Given the description of an element on the screen output the (x, y) to click on. 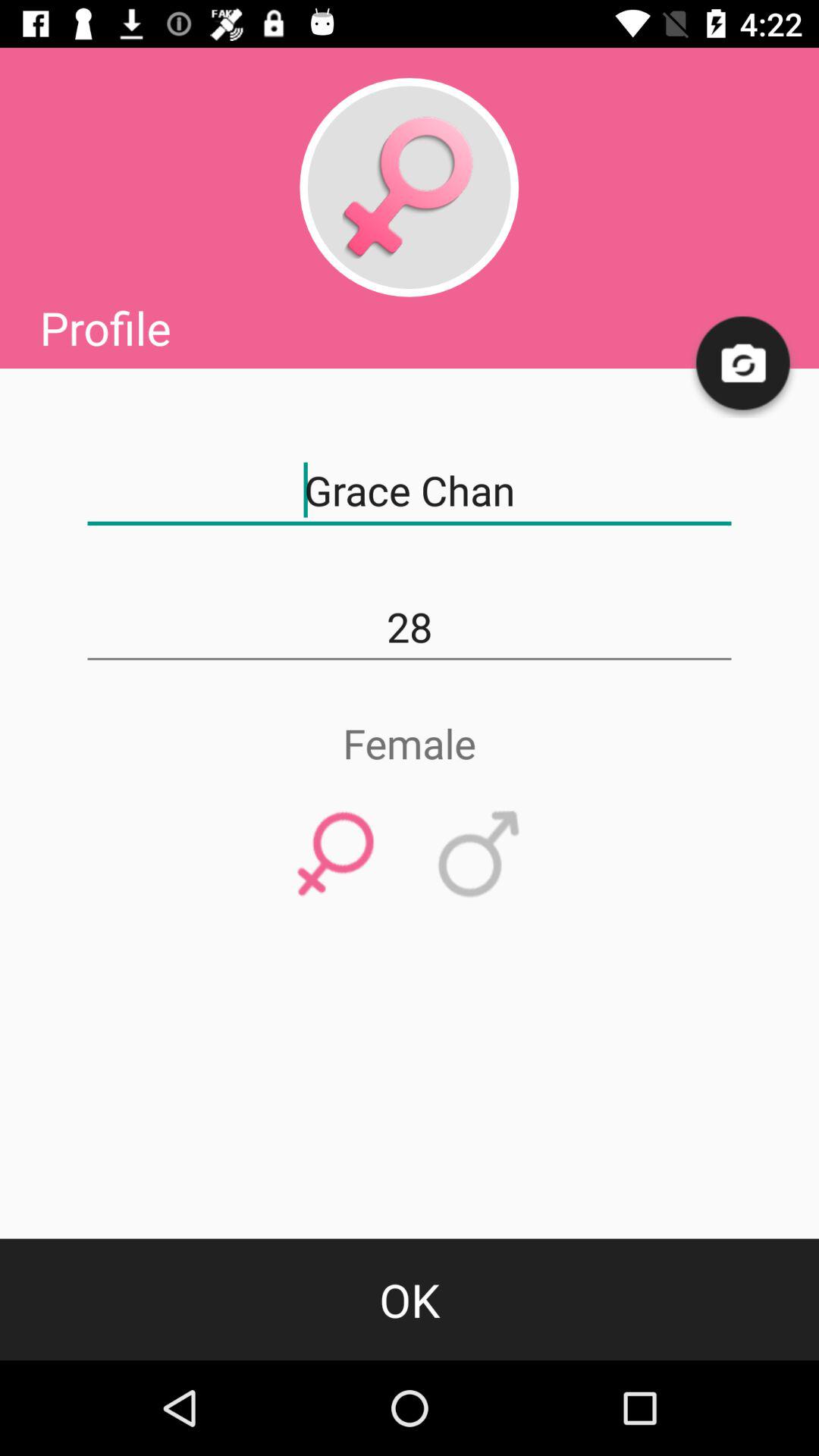
select icon above grace chan item (744, 364)
